Given the description of an element on the screen output the (x, y) to click on. 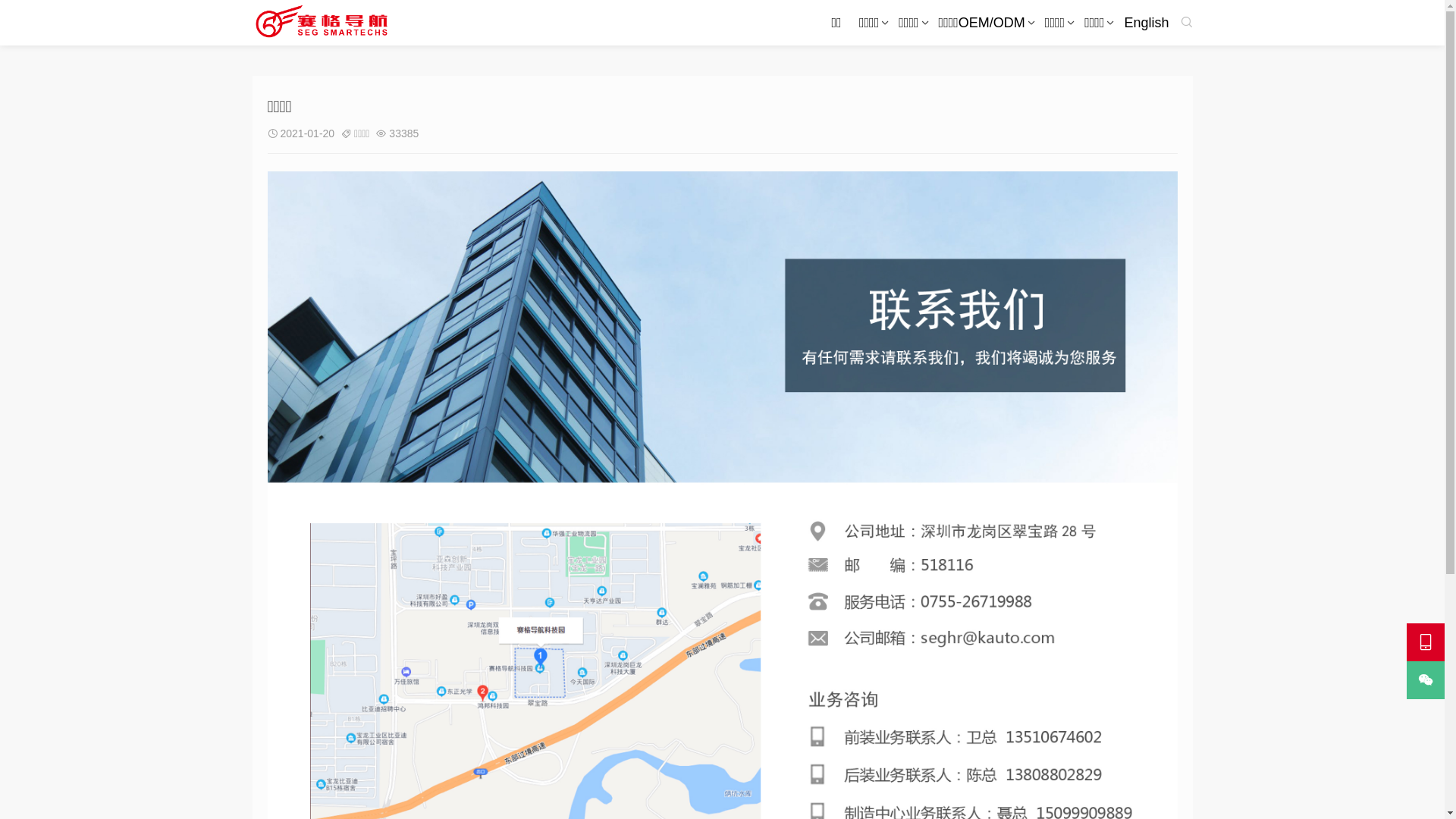
English Element type: text (1145, 22)
